Given the description of an element on the screen output the (x, y) to click on. 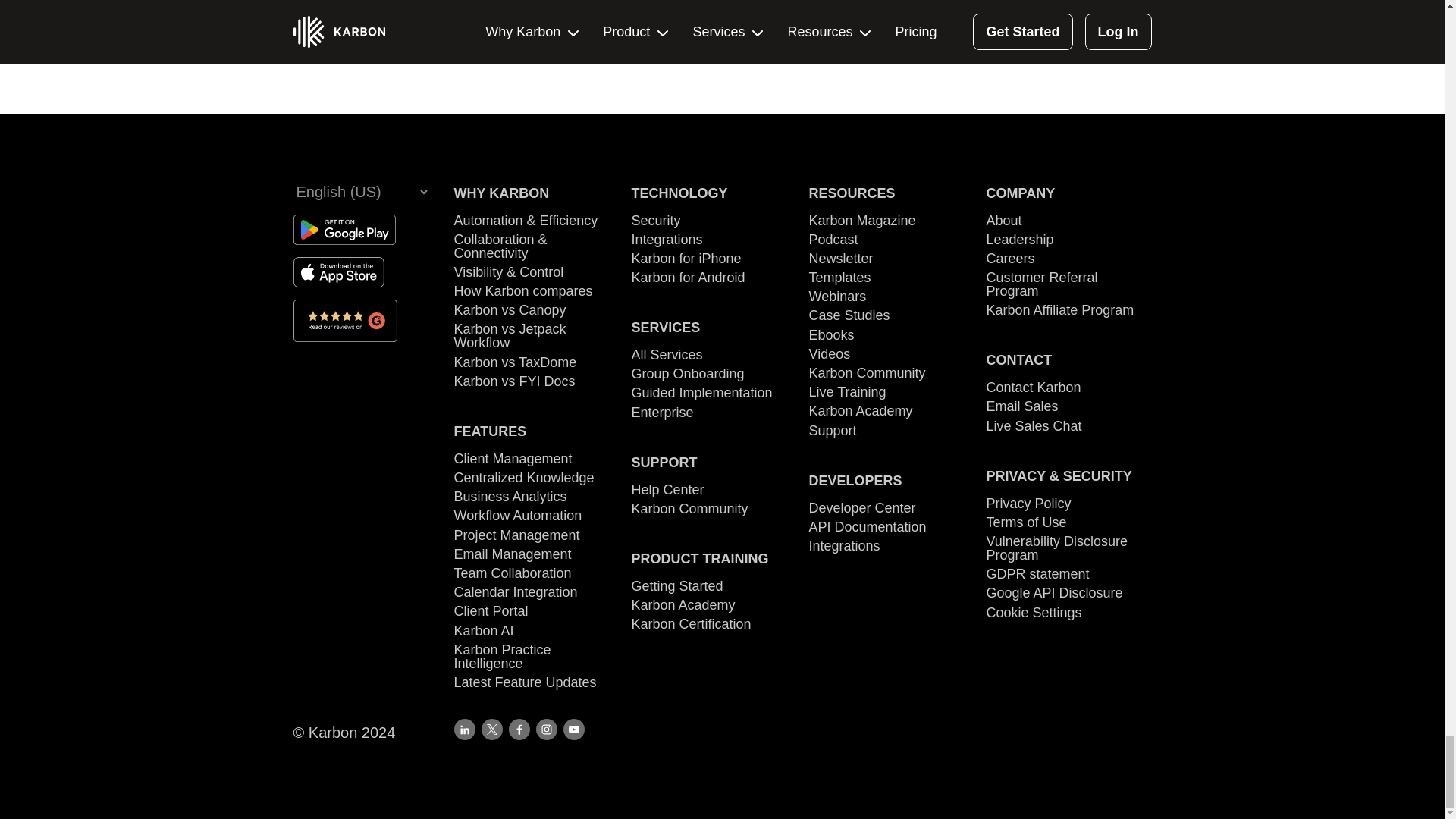
Karbon on LinkedIn (463, 729)
Karbon on YouTube (572, 729)
Karbon on facebook (518, 729)
